Given the description of an element on the screen output the (x, y) to click on. 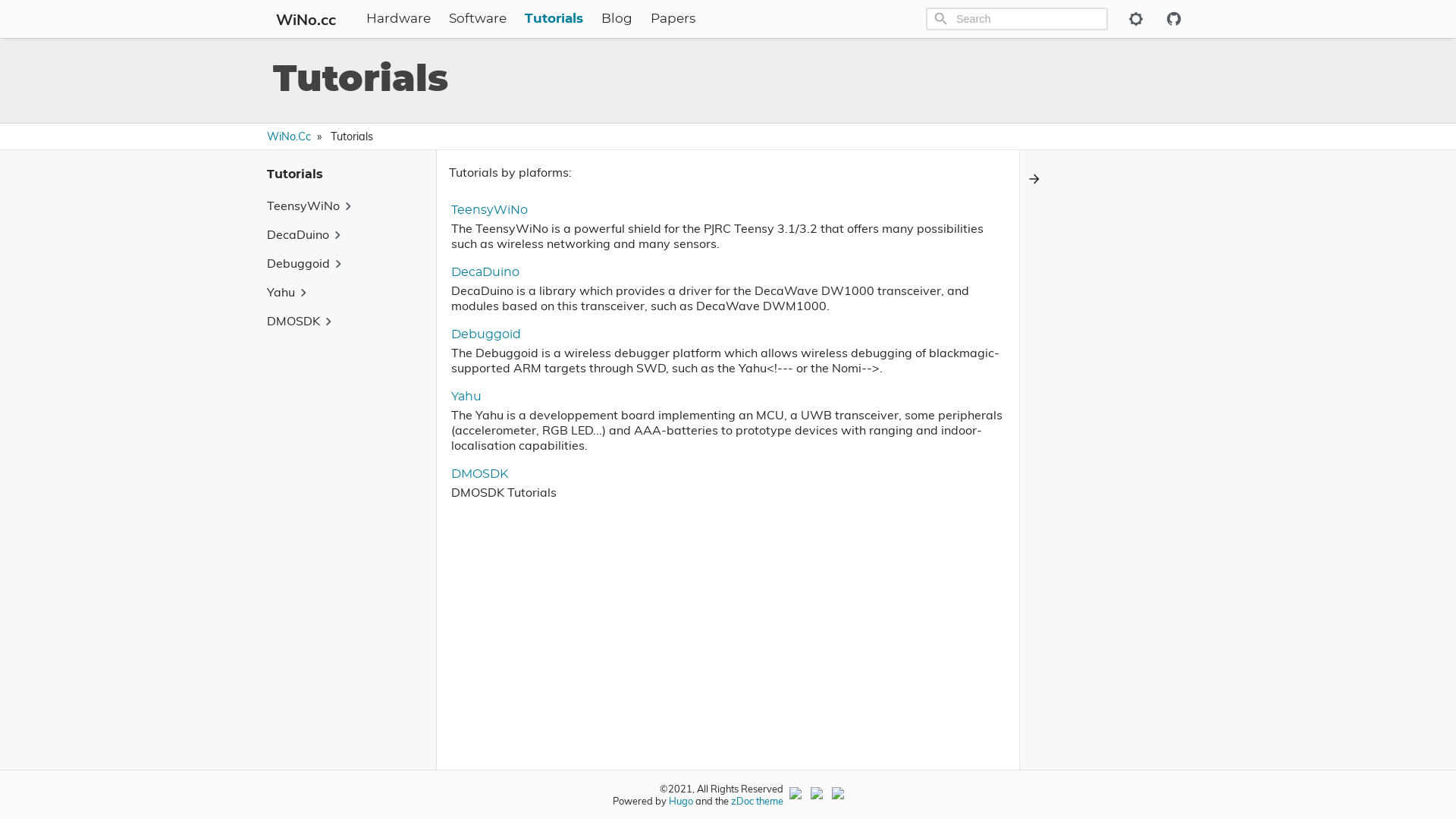
Blog Element type: text (615, 18)
Hardware Element type: text (397, 18)
Software Element type: text (477, 18)
TeensyWiNo Element type: text (489, 209)
DecaDuino Element type: text (485, 272)
Papers Element type: text (672, 18)
WiNo.cc Element type: text (308, 18)
Tutorials Element type: text (553, 18)
WiNo.Cc Element type: text (288, 136)
Debuggoid Element type: text (485, 334)
Yahu Element type: text (466, 396)
DMOSDK Element type: text (479, 473)
Hugo Element type: text (680, 800)
Github repository Element type: hover (1172, 18)
zDoc theme Element type: text (757, 800)
